Given the description of an element on the screen output the (x, y) to click on. 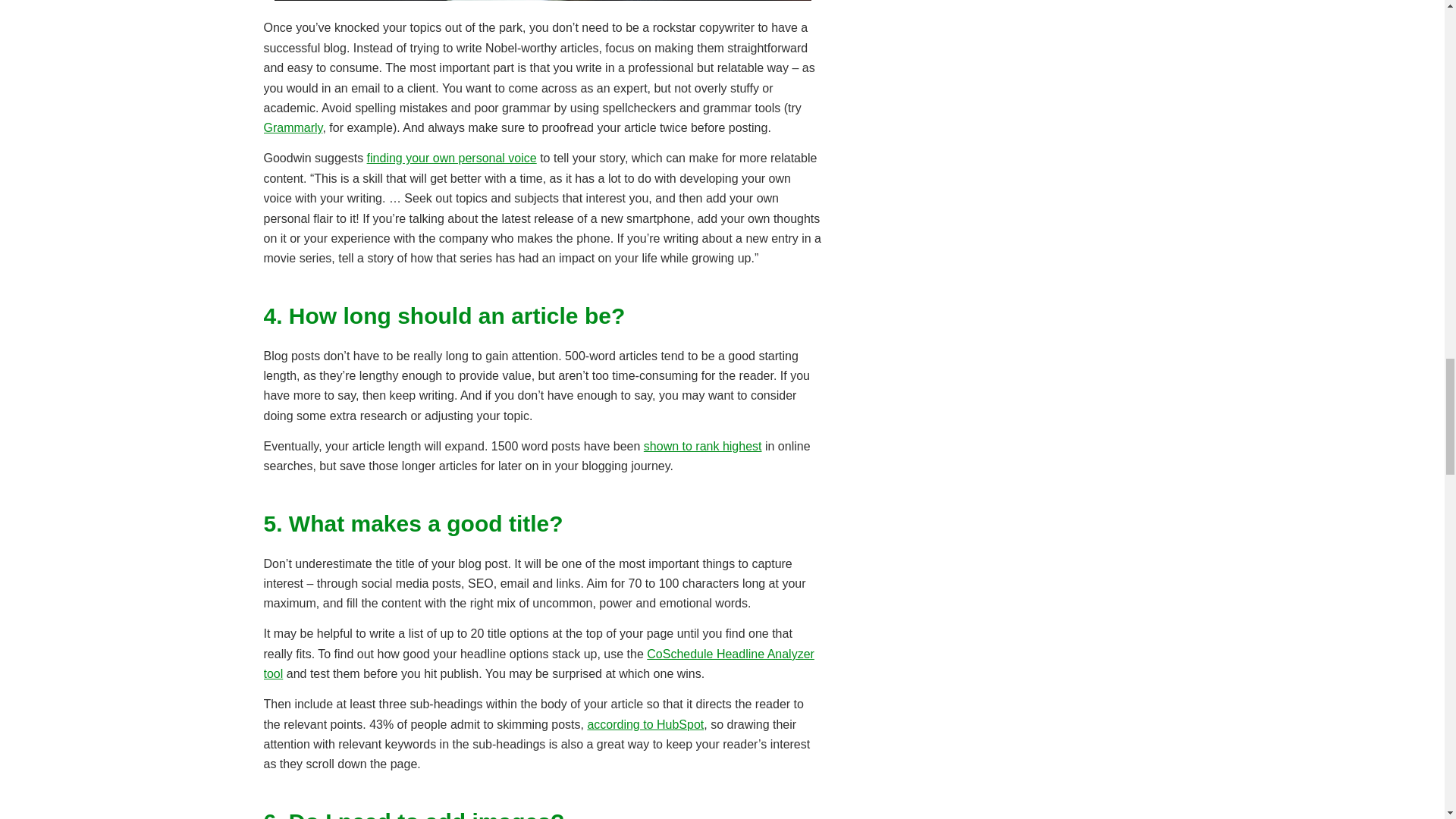
CoSchedule Headline Analyzer tool (538, 663)
Grammarly (293, 127)
finding your own personal voice (451, 157)
according to HubSpot (644, 724)
shown to rank highest (702, 445)
